Given the description of an element on the screen output the (x, y) to click on. 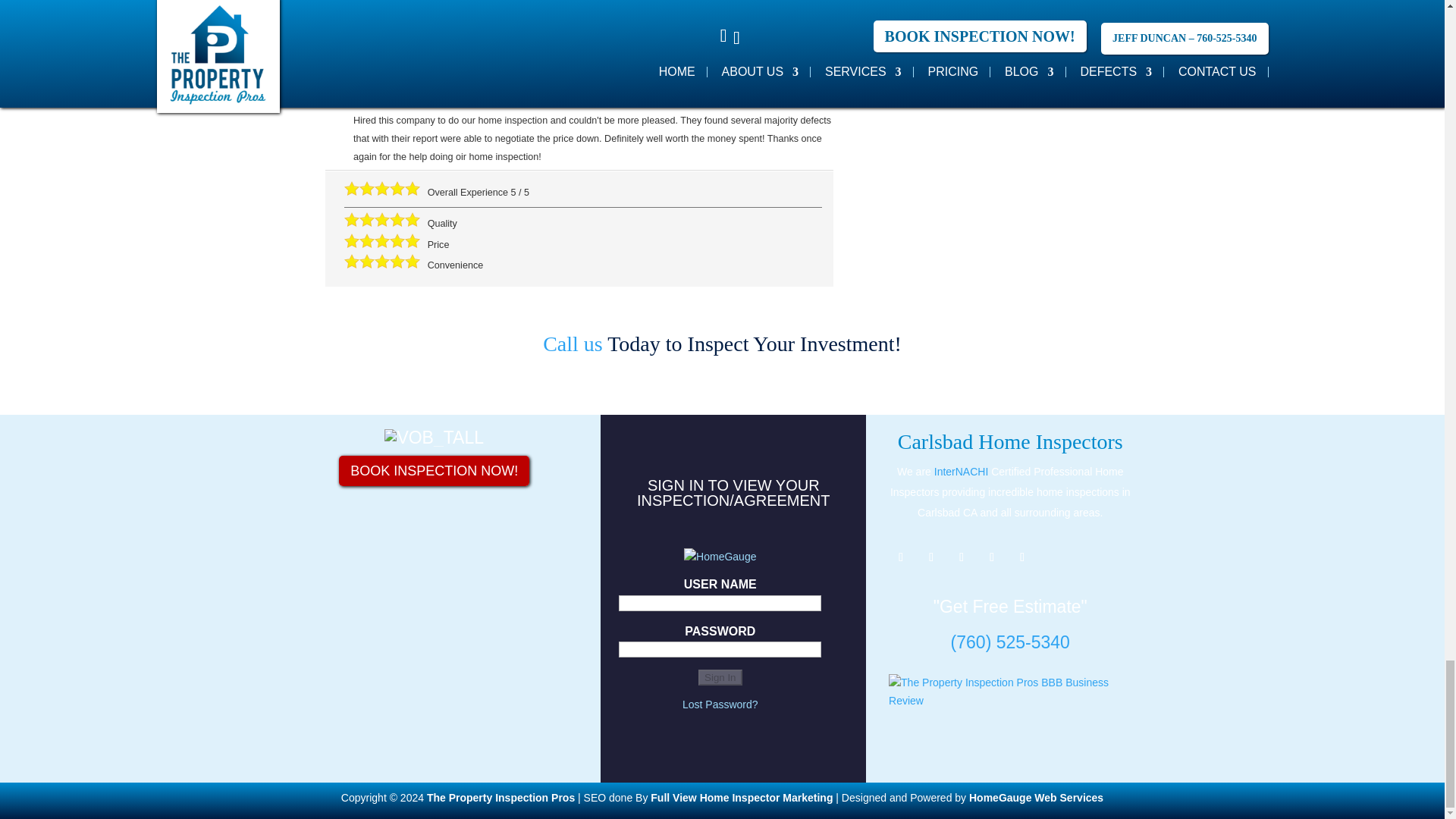
Sign In (720, 677)
